Given the description of an element on the screen output the (x, y) to click on. 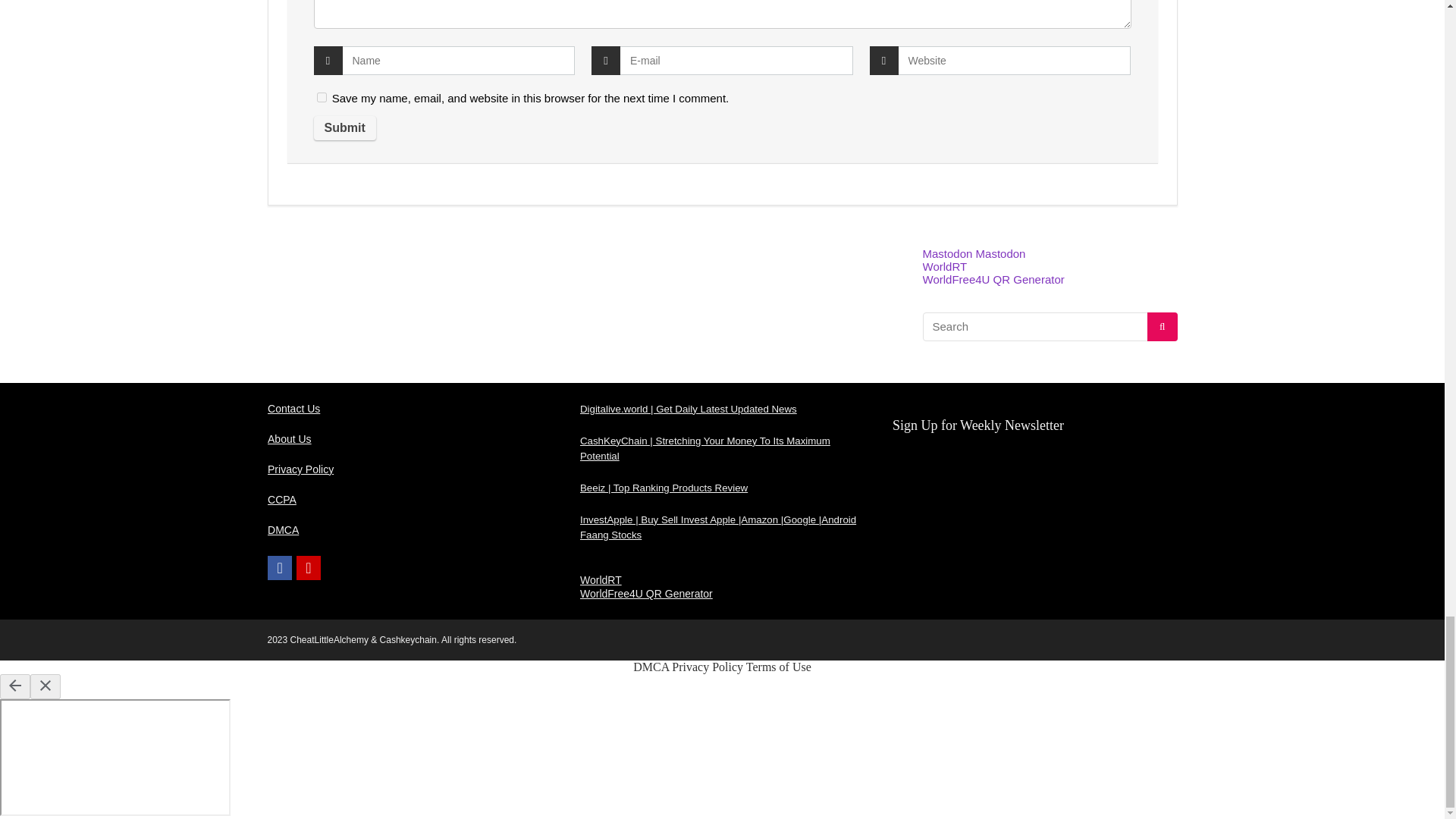
Submit (344, 128)
yes (321, 97)
